Given the description of an element on the screen output the (x, y) to click on. 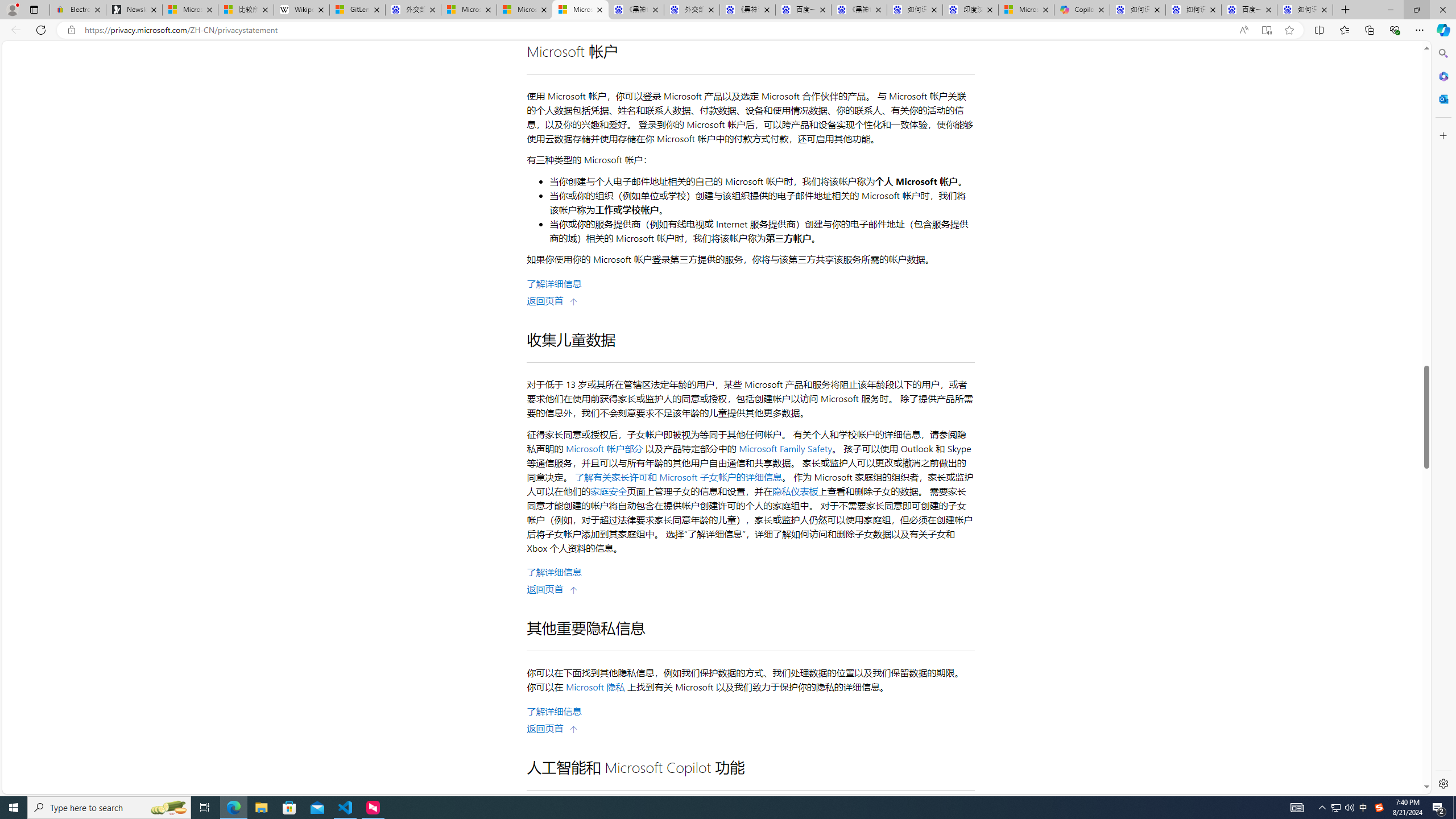
Newsletter Sign Up (134, 9)
Microsoft Family Safety (784, 448)
